Given the description of an element on the screen output the (x, y) to click on. 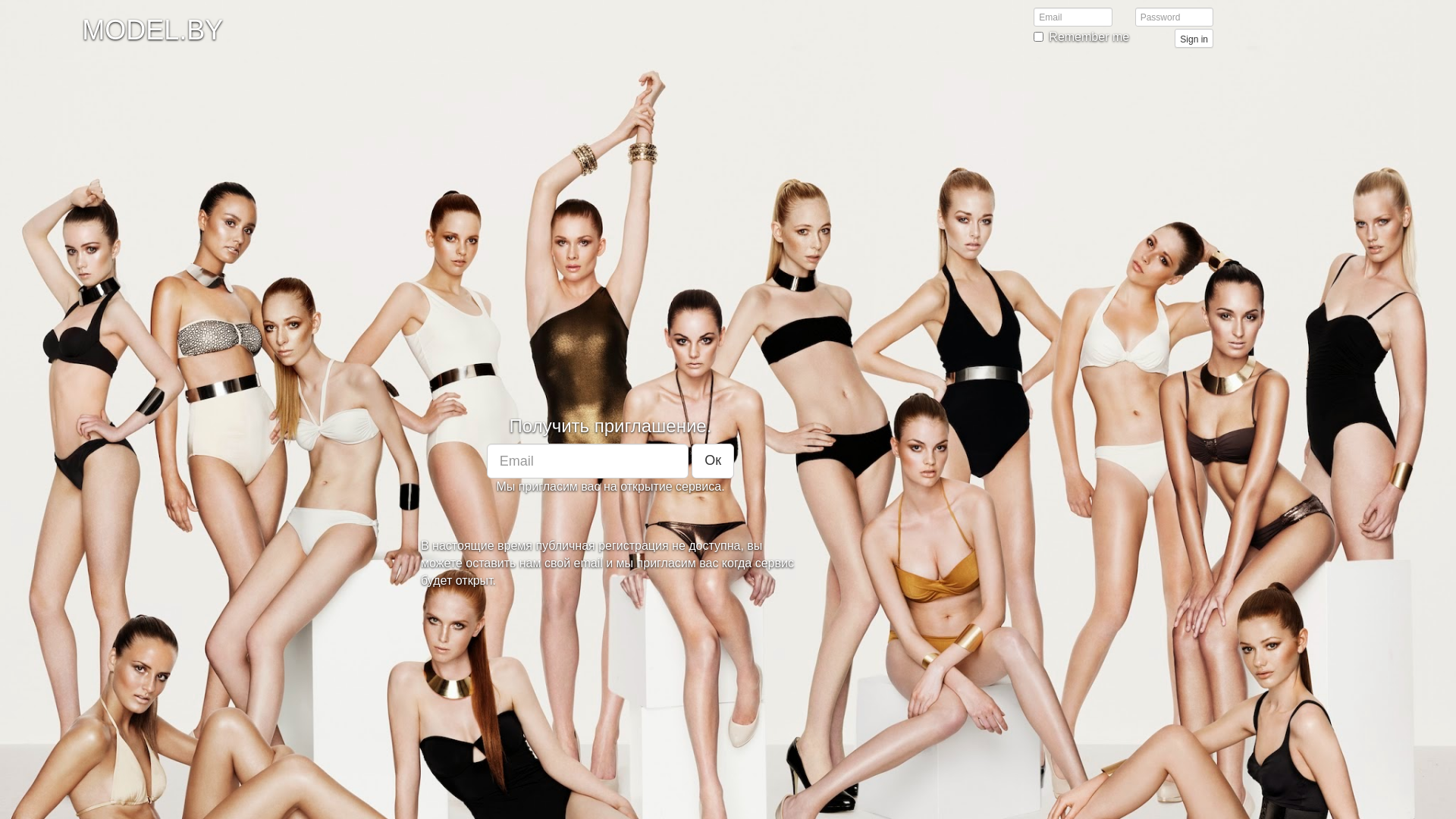
Sign in Element type: text (1193, 37)
